Given the description of an element on the screen output the (x, y) to click on. 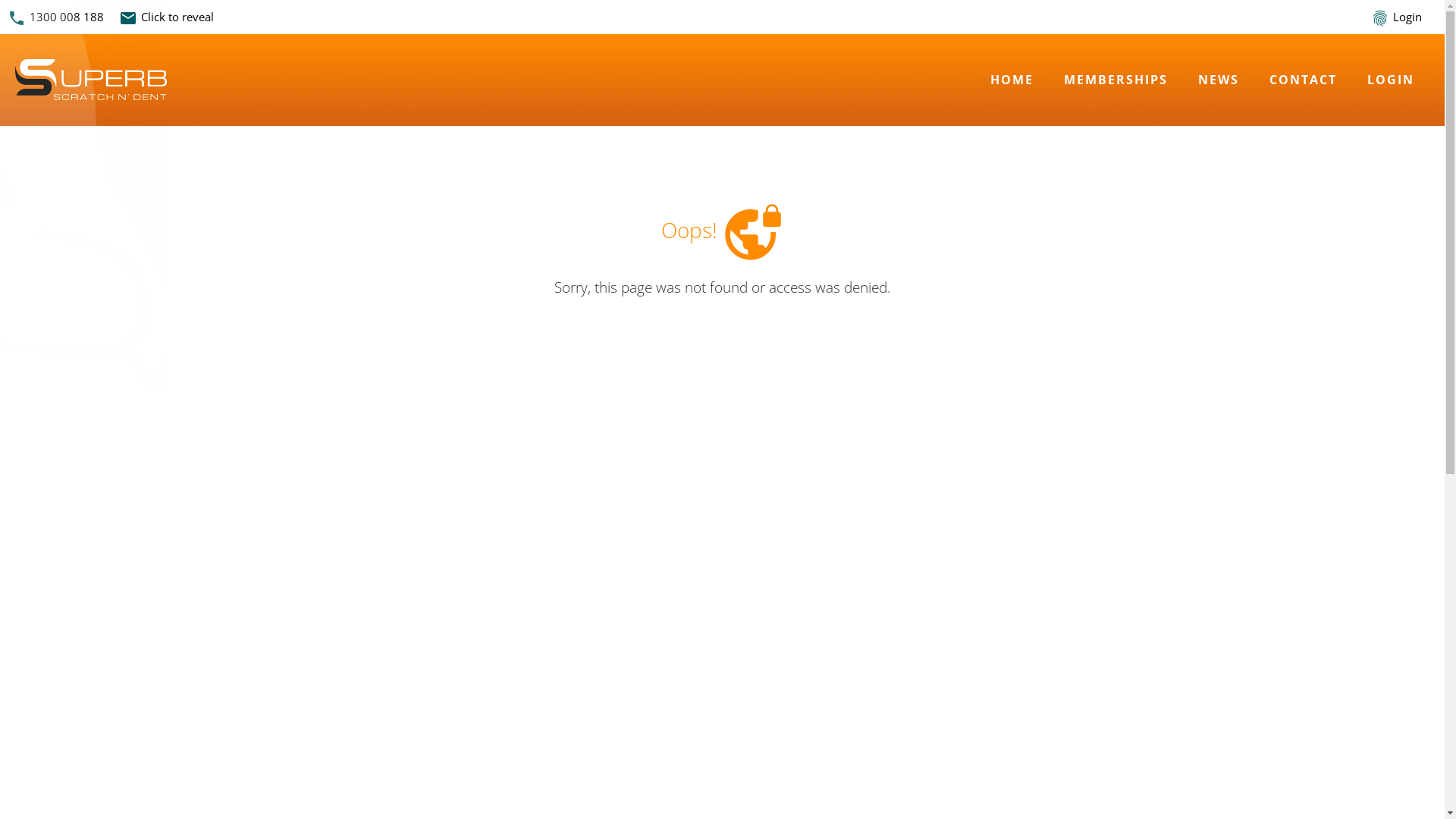
HOME Element type: text (1011, 79)
LOGIN Element type: text (1390, 79)
1300 008 188 Element type: text (66, 16)
NEWS Element type: text (1218, 79)
MEMBERSHIPS Element type: text (1115, 79)
emailClick to reveal Element type: text (170, 17)
CONTACT Element type: text (1303, 79)
